Given the description of an element on the screen output the (x, y) to click on. 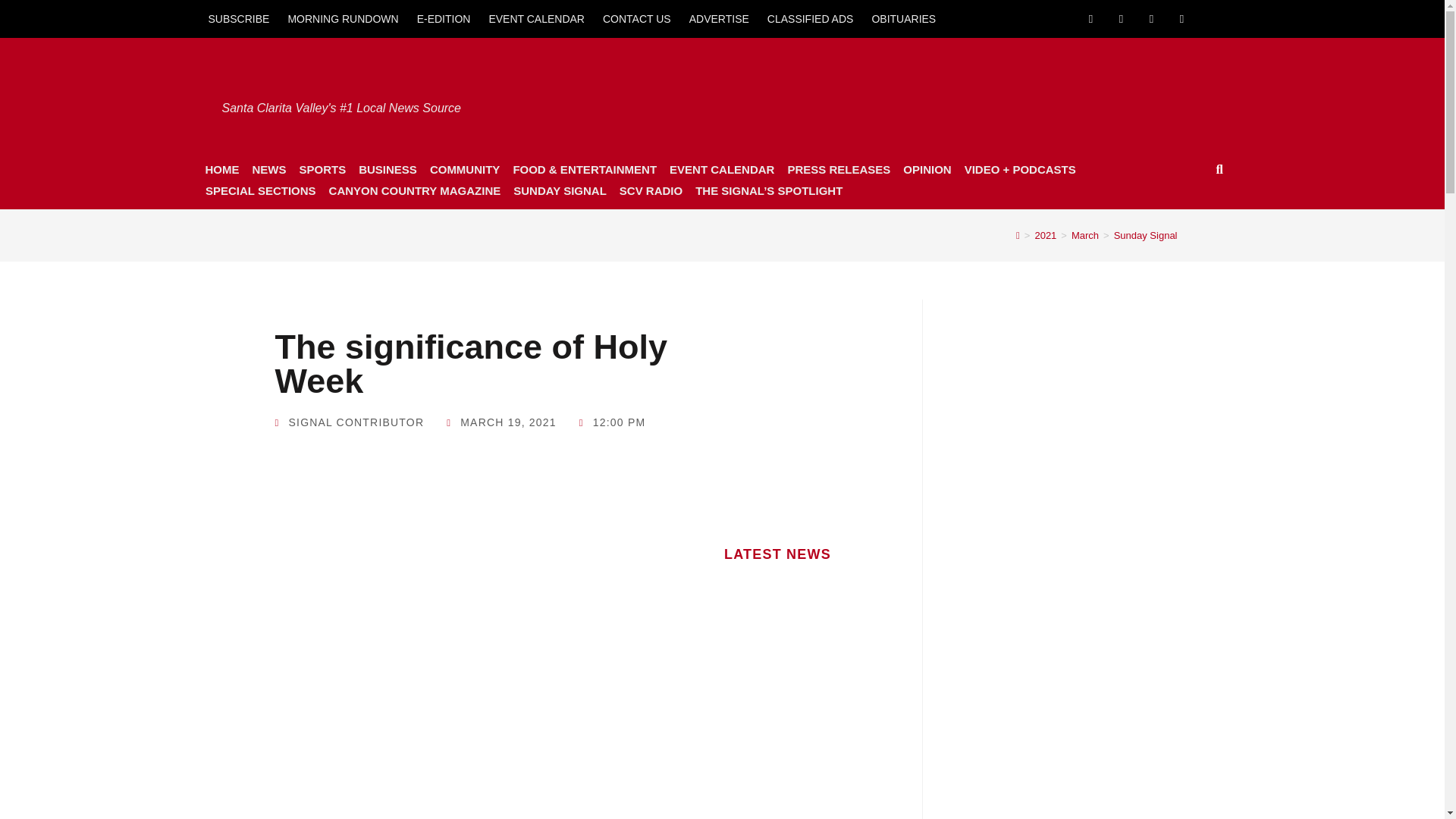
MORNING RUNDOWN (342, 18)
EVENT CALENDAR (536, 18)
SPORTS (322, 169)
OBITUARIES (902, 18)
NEWS (269, 169)
CONTACT US (636, 18)
HOME (221, 169)
E-EDITION (443, 18)
SUBSCRIBE (238, 18)
CLASSIFIED ADS (810, 18)
ADVERTISE (718, 18)
